Given the description of an element on the screen output the (x, y) to click on. 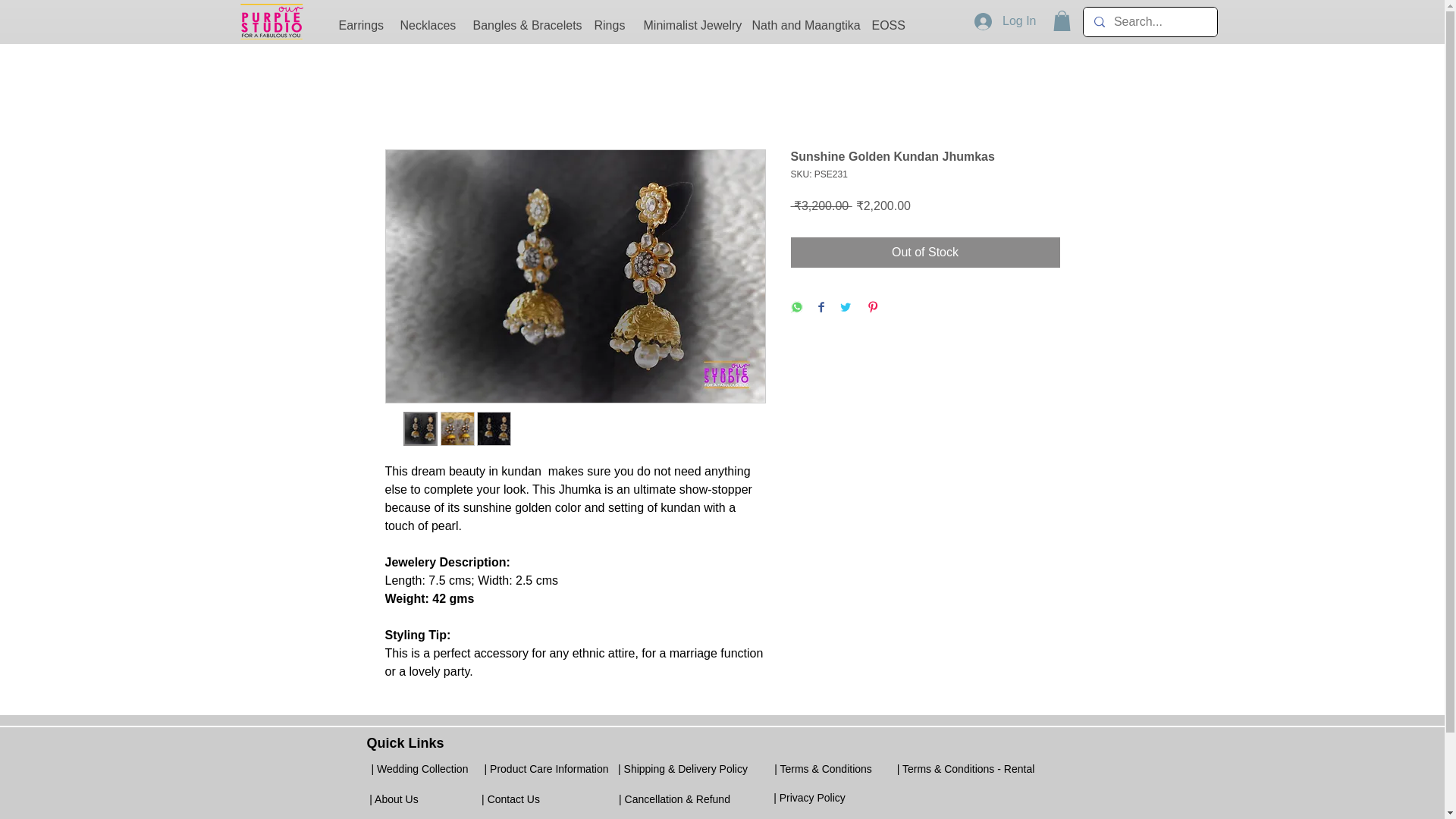
Rings (606, 25)
EOSS (885, 25)
Out of Stock (924, 252)
Necklaces (424, 25)
Log In (1004, 20)
Earrings (357, 25)
Minimalist Jewelry (686, 25)
Nath and Maangtika (799, 25)
